Given the description of an element on the screen output the (x, y) to click on. 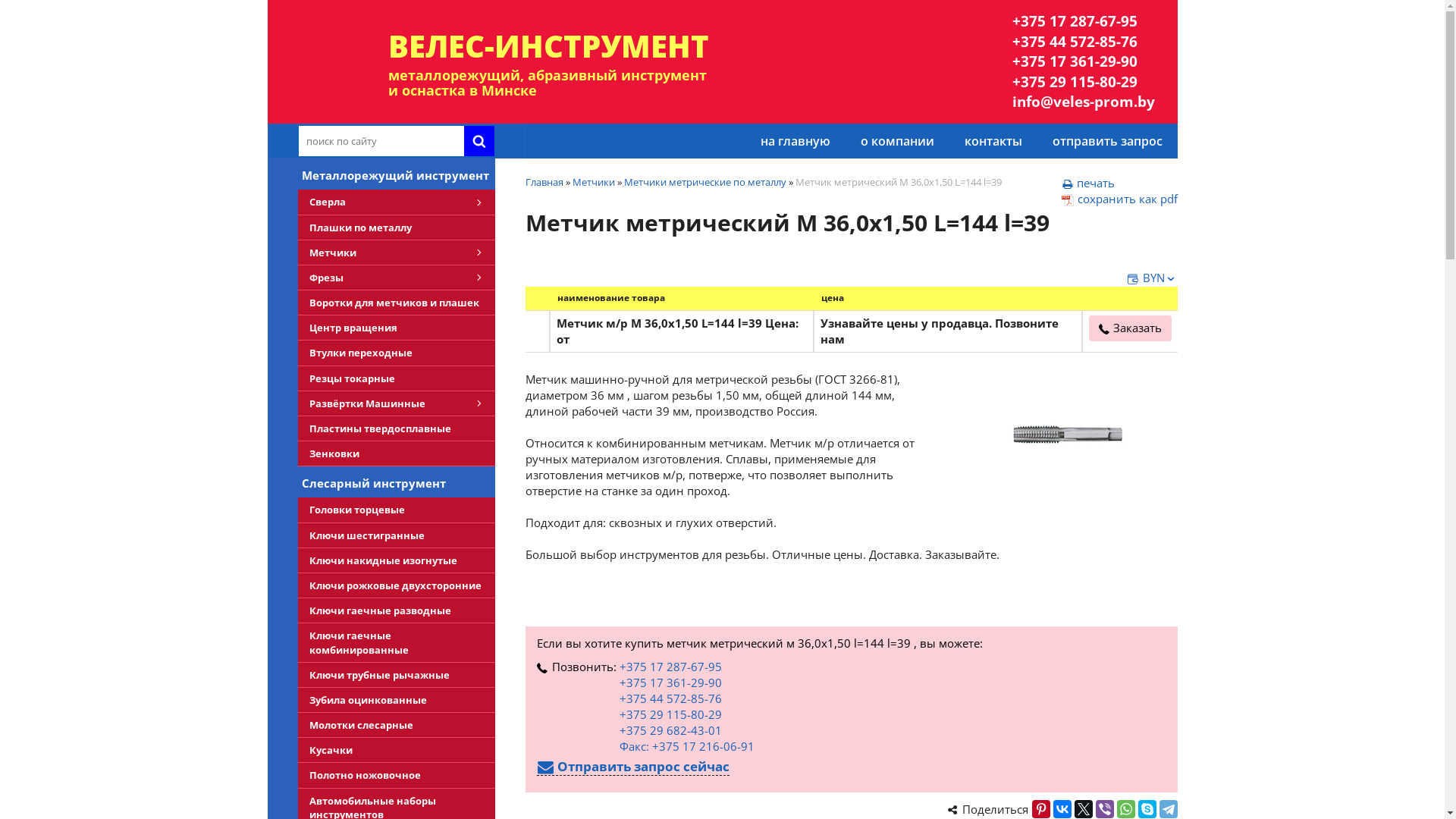
Telegram Element type: hover (1167, 809)
+375 17 361-29-90 Element type: text (669, 682)
+375 29 115-80-29 Element type: text (669, 713)
+375 44 572-85-76 Element type: text (669, 698)
+375 29 682-43-01 Element type: text (669, 729)
info@veles-prom.by Element type: text (1082, 101)
WhatsApp Element type: hover (1125, 809)
+375 29 115-80-29 Element type: text (1082, 82)
+375 17 287-67-95 Element type: text (669, 666)
BYN Element type: text (1151, 277)
Skype Element type: hover (1146, 809)
Viber Element type: hover (1104, 809)
Pinterest Element type: hover (1040, 809)
+375 44 572-85-76 Element type: text (1082, 41)
+375 17 361-29-90 Element type: text (1082, 61)
+375 17 287-67-95 Element type: text (1082, 21)
Twitter Element type: hover (1082, 809)
